Given the description of an element on the screen output the (x, y) to click on. 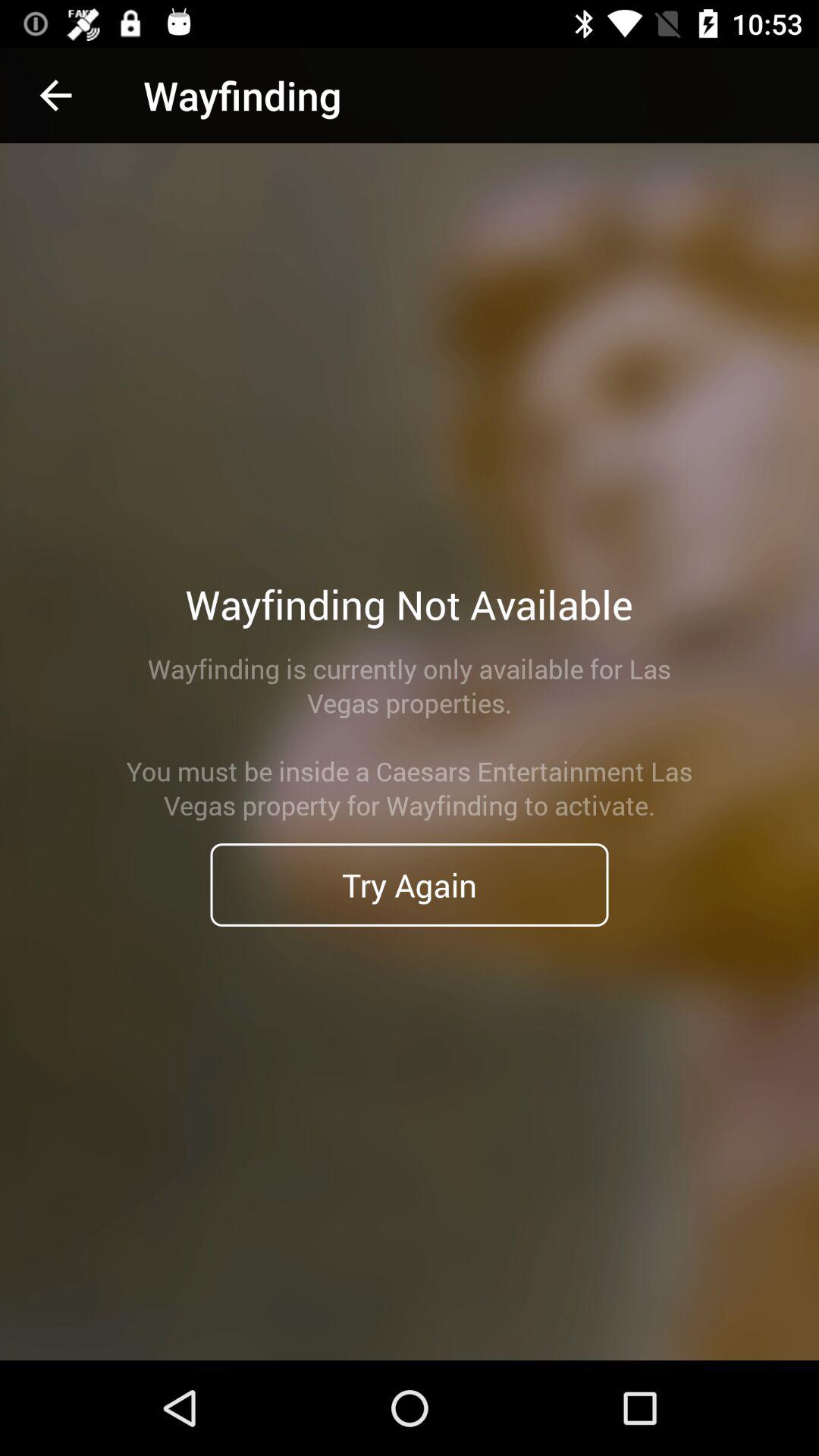
click the icon above wayfinding is currently icon (55, 95)
